Given the description of an element on the screen output the (x, y) to click on. 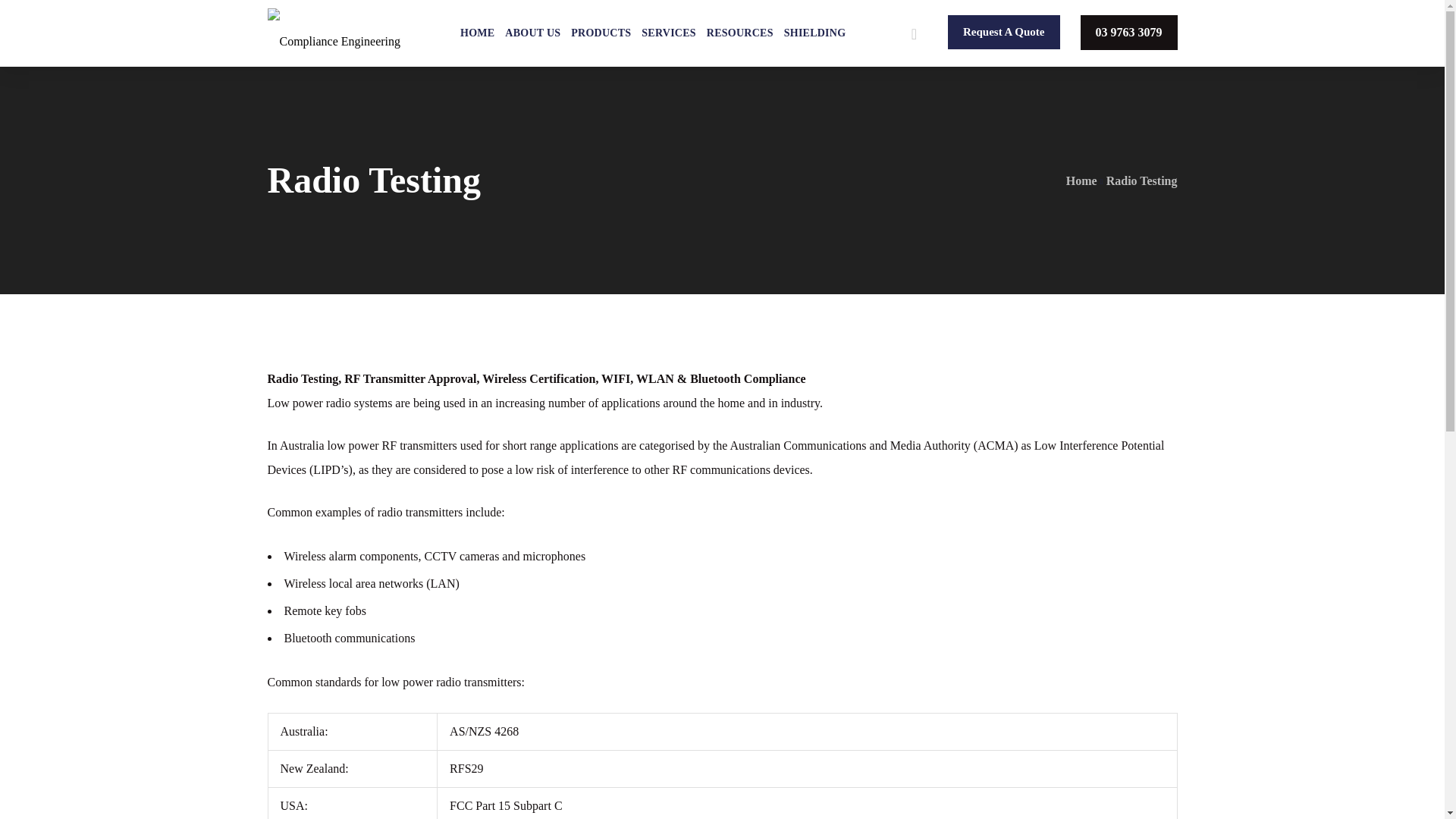
03 9763 3079 (1128, 32)
Contact us (1003, 32)
Compliance Engineering (333, 33)
